Given the description of an element on the screen output the (x, y) to click on. 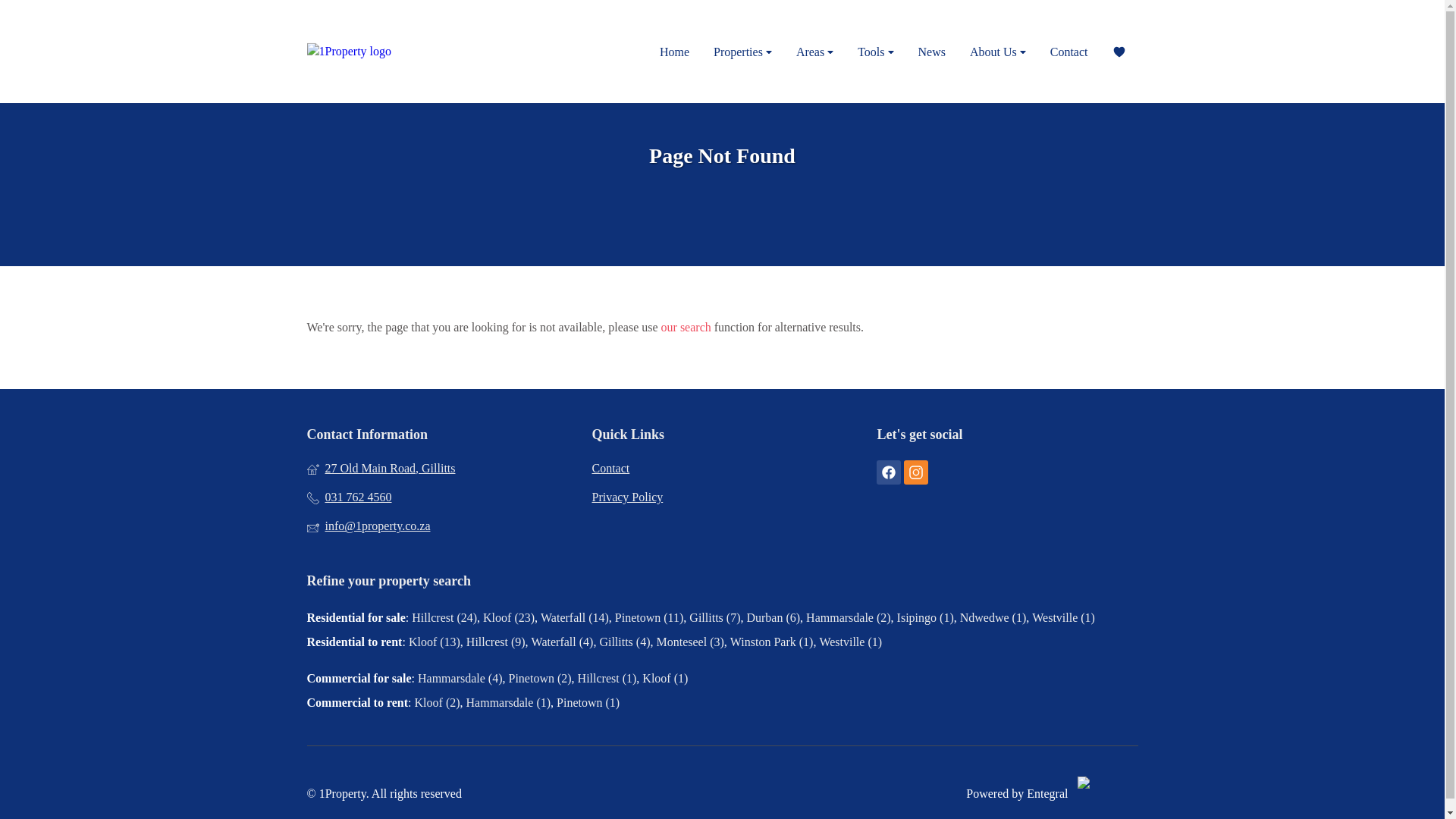
Favourites (1118, 51)
1Property facebook page (888, 472)
Favourites (1118, 51)
27 Old Main Road, Gillitts (436, 468)
Privacy Policy (721, 497)
Home (674, 51)
1Property instagram page (916, 472)
News (931, 51)
our search (686, 327)
Contact (721, 468)
